Given the description of an element on the screen output the (x, y) to click on. 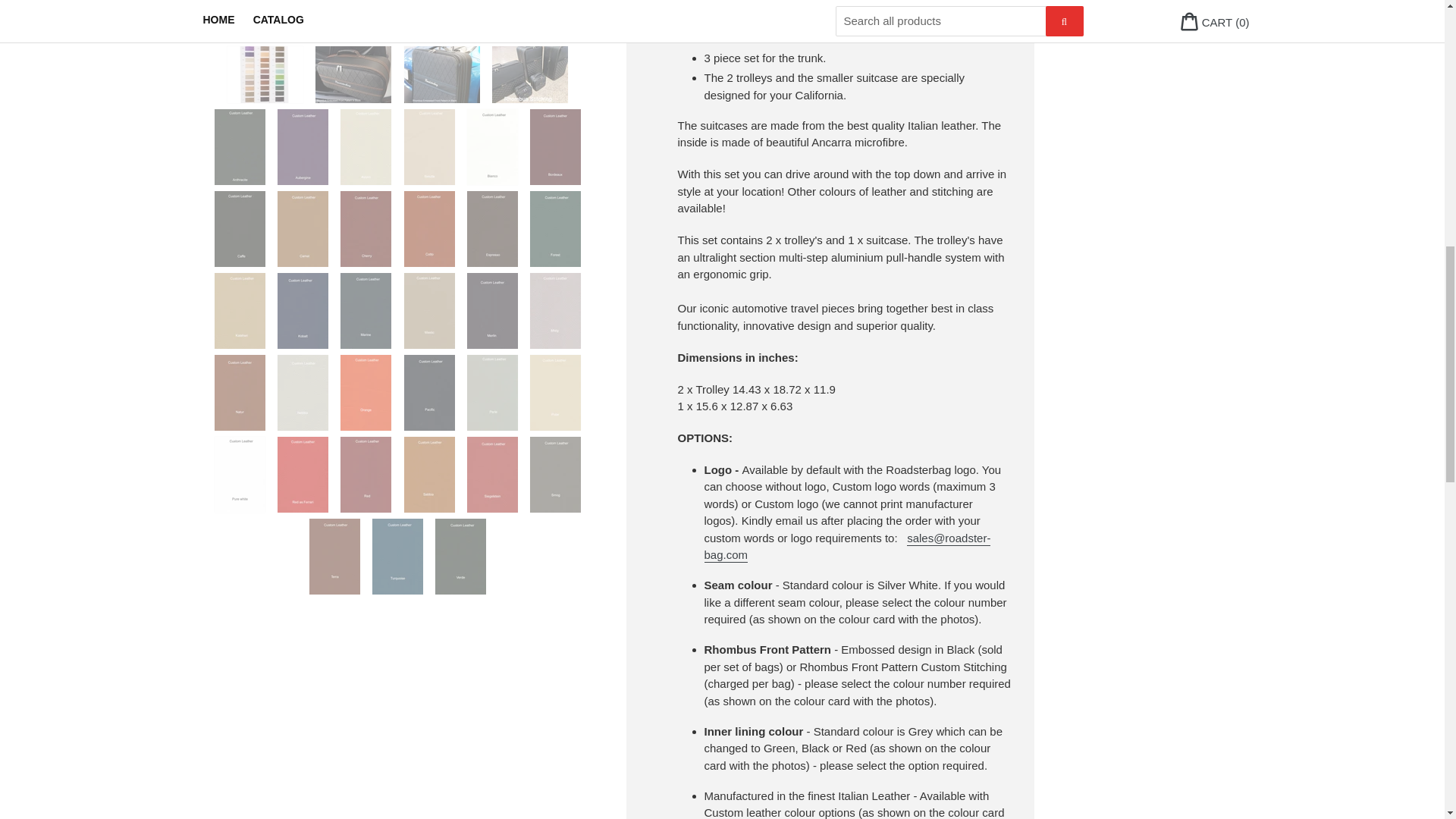
Ferrari California Boot Trunk Luggage Roadster bag Set (354, 20)
Ferrari California Boot Trunk Luggage Roadster bag Set (531, 20)
Ferrari California Boot Trunk Luggage Roadster bag Set (266, 73)
Ferrari California Boot Trunk Luggage Roadster bag Set (443, 73)
Ferrari California Boot Trunk Luggage Roadster bag Set (266, 20)
Ferrari California Boot Trunk Luggage Roadster bag Set (531, 73)
Ferrari California Boot Trunk Luggage Roadster bag Set (443, 20)
Ferrari California Boot Trunk Luggage Roadster bag Set (354, 73)
